Given the description of an element on the screen output the (x, y) to click on. 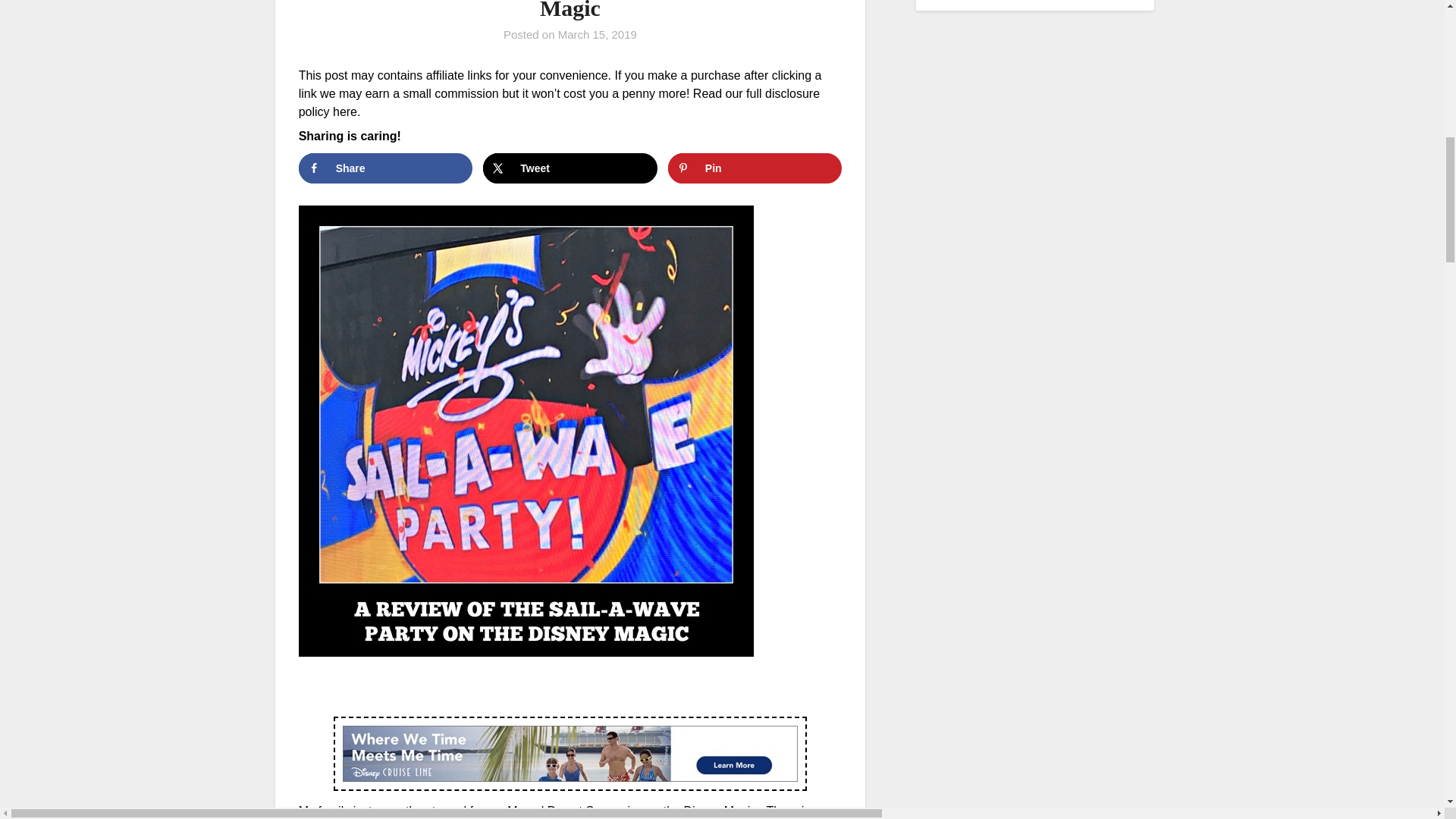
Share on Facebook (384, 168)
Pin (754, 168)
Share (384, 168)
Marvel Day at Sea (556, 810)
March 15, 2019 (597, 33)
Tweet (569, 168)
Share on X (569, 168)
Disney Magic (718, 810)
Save to Pinterest (754, 168)
